Given the description of an element on the screen output the (x, y) to click on. 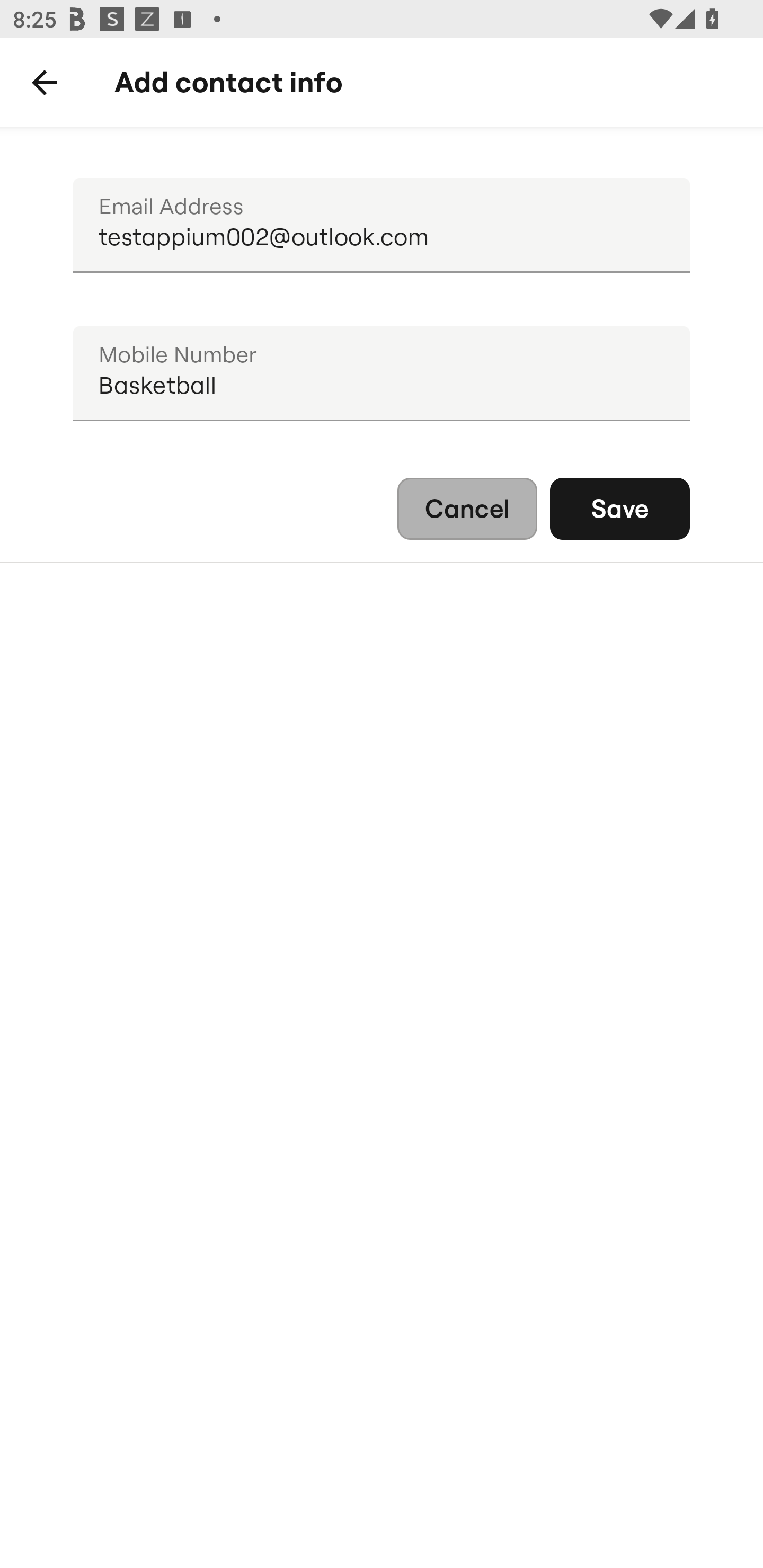
Back (44, 82)
testappium002@outlook.com (381, 225)
Basketball (381, 373)
Cancel (467, 508)
Save (619, 508)
